Given the description of an element on the screen output the (x, y) to click on. 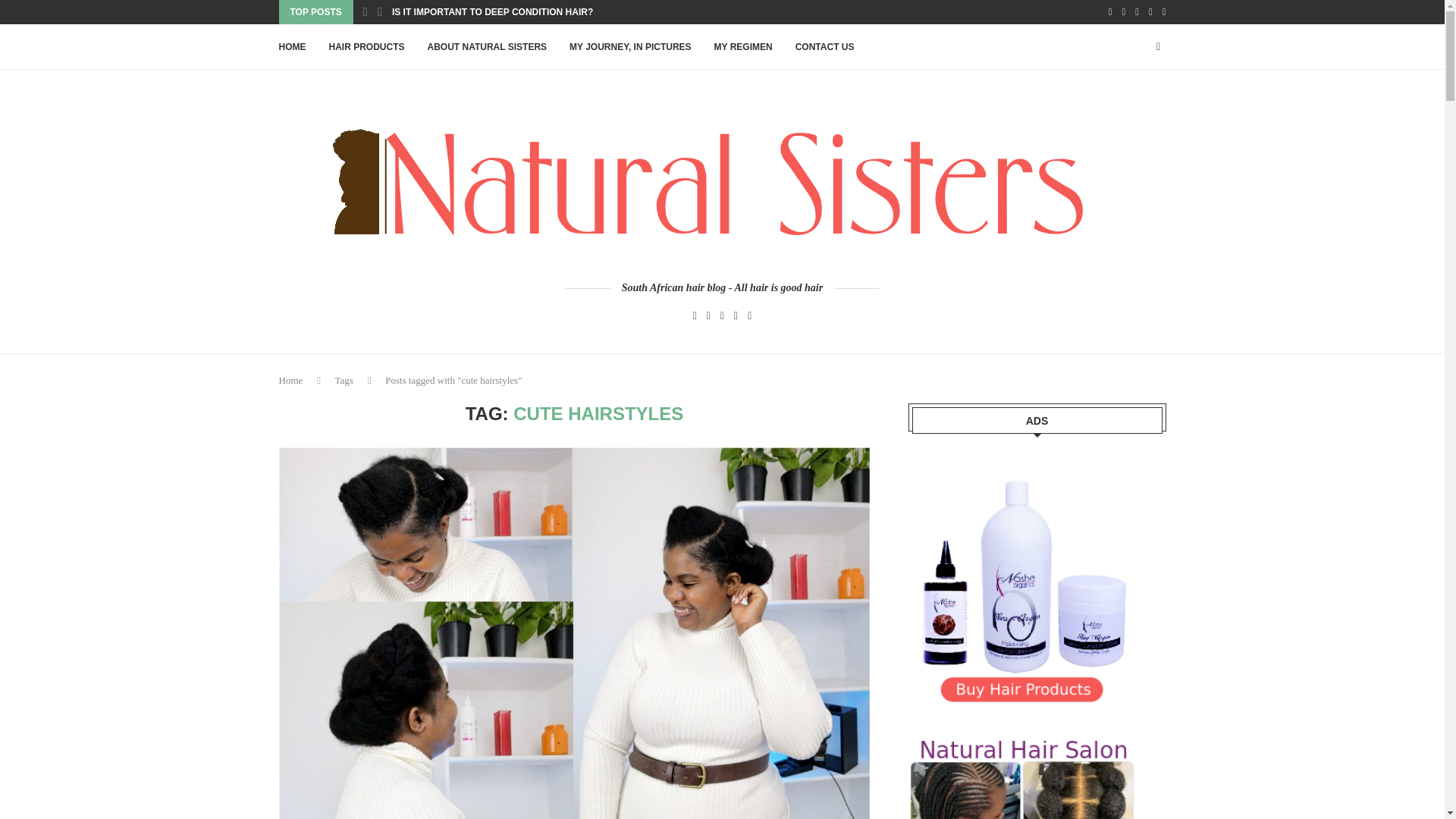
ABOUT NATURAL SISTERS (487, 46)
MY REGIMEN (743, 46)
HAIR PRODUCTS (366, 46)
IS IT IMPORTANT TO DEEP CONDITION HAIR? (491, 12)
MY JOURNEY, IN PICTURES (629, 46)
CONTACT US (824, 46)
HOME (292, 46)
